Given the description of an element on the screen output the (x, y) to click on. 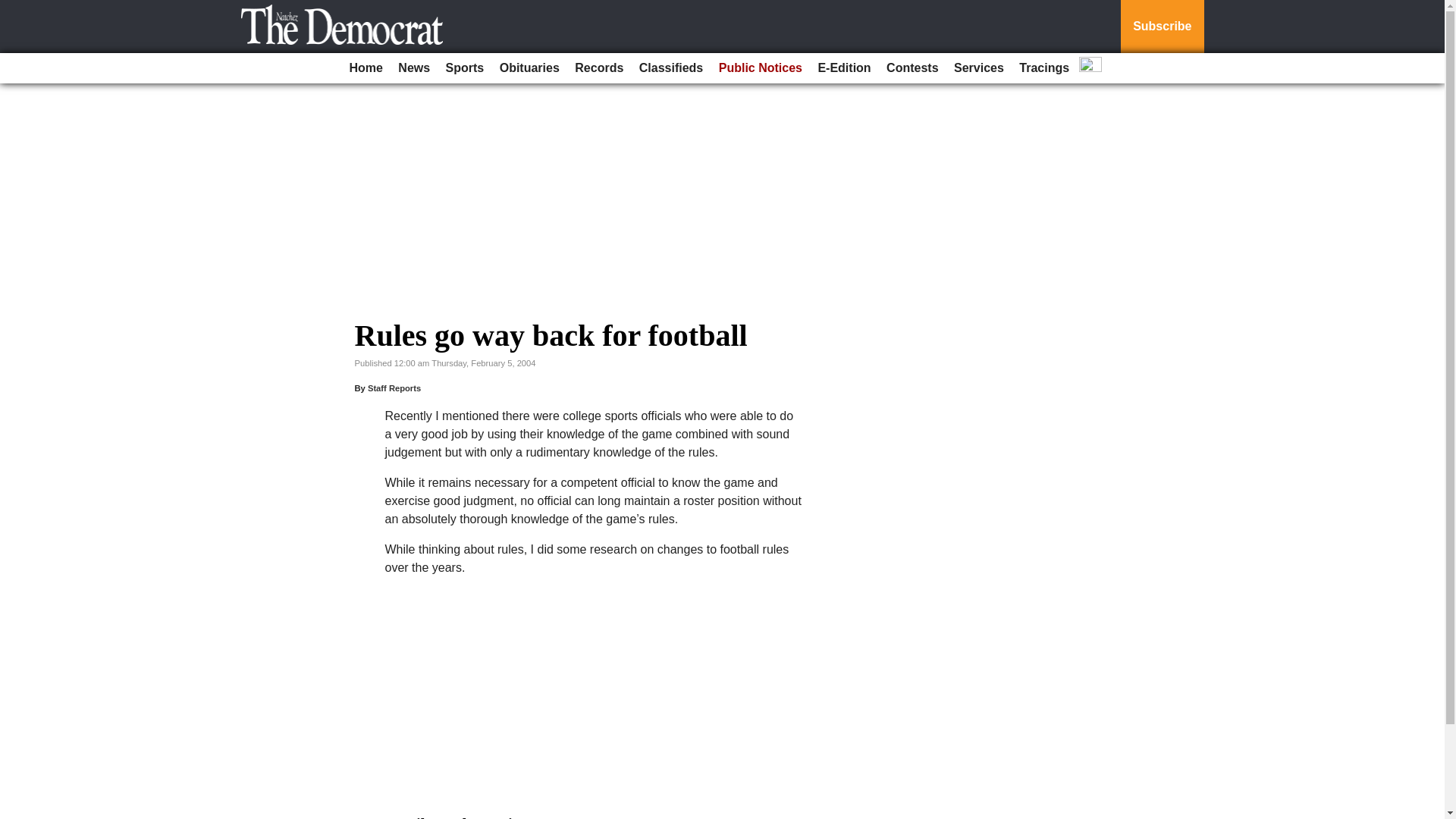
Public Notices (760, 68)
Tracings (1044, 68)
Go (13, 9)
Contests (911, 68)
Home (365, 68)
Staff Reports (394, 388)
Subscribe (1162, 26)
E-Edition (843, 68)
Sports (464, 68)
Obituaries (529, 68)
